Given the description of an element on the screen output the (x, y) to click on. 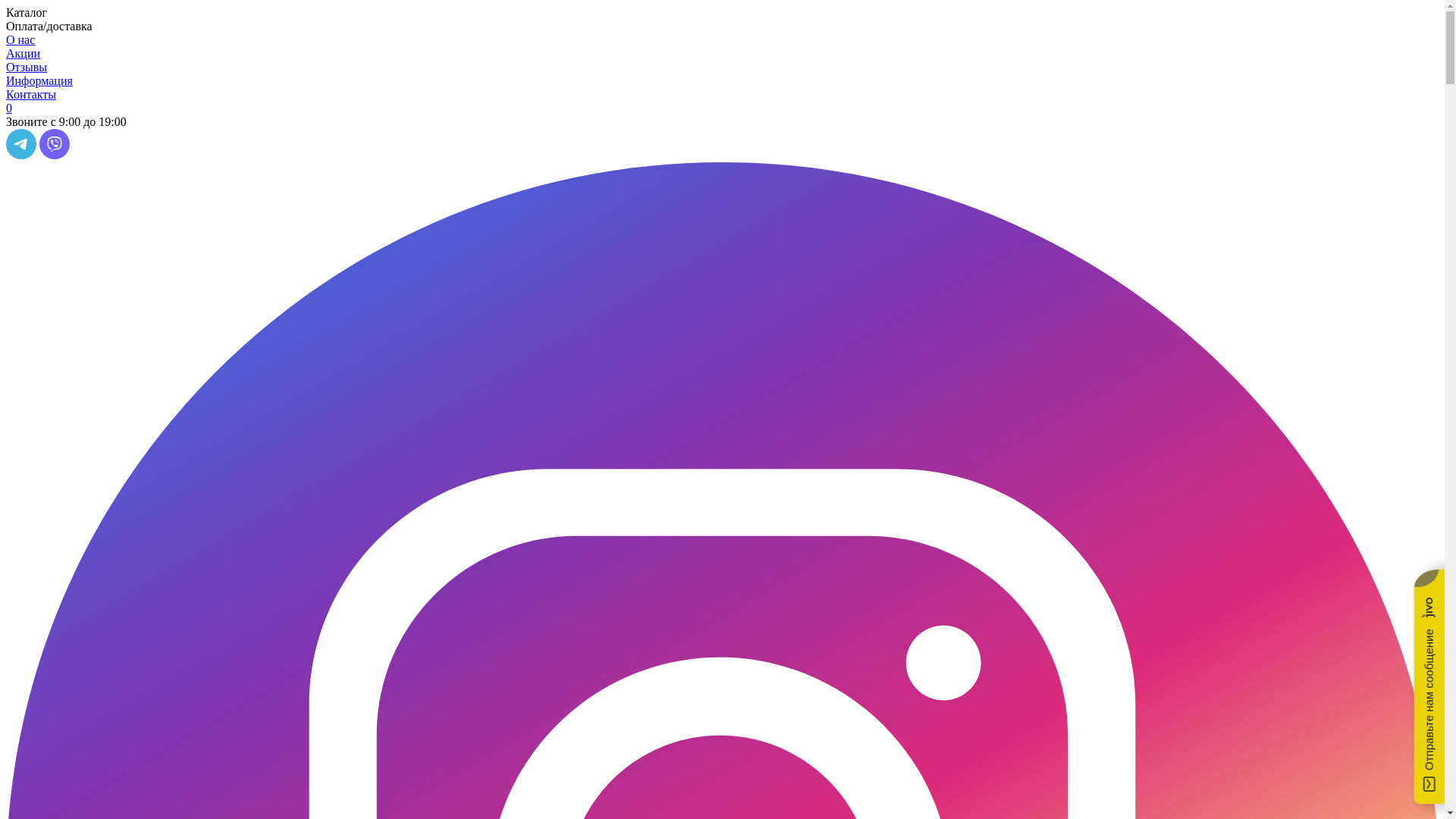
Viber Element type: hover (54, 154)
Telegram Element type: hover (21, 154)
0 Element type: text (722, 108)
